Given the description of an element on the screen output the (x, y) to click on. 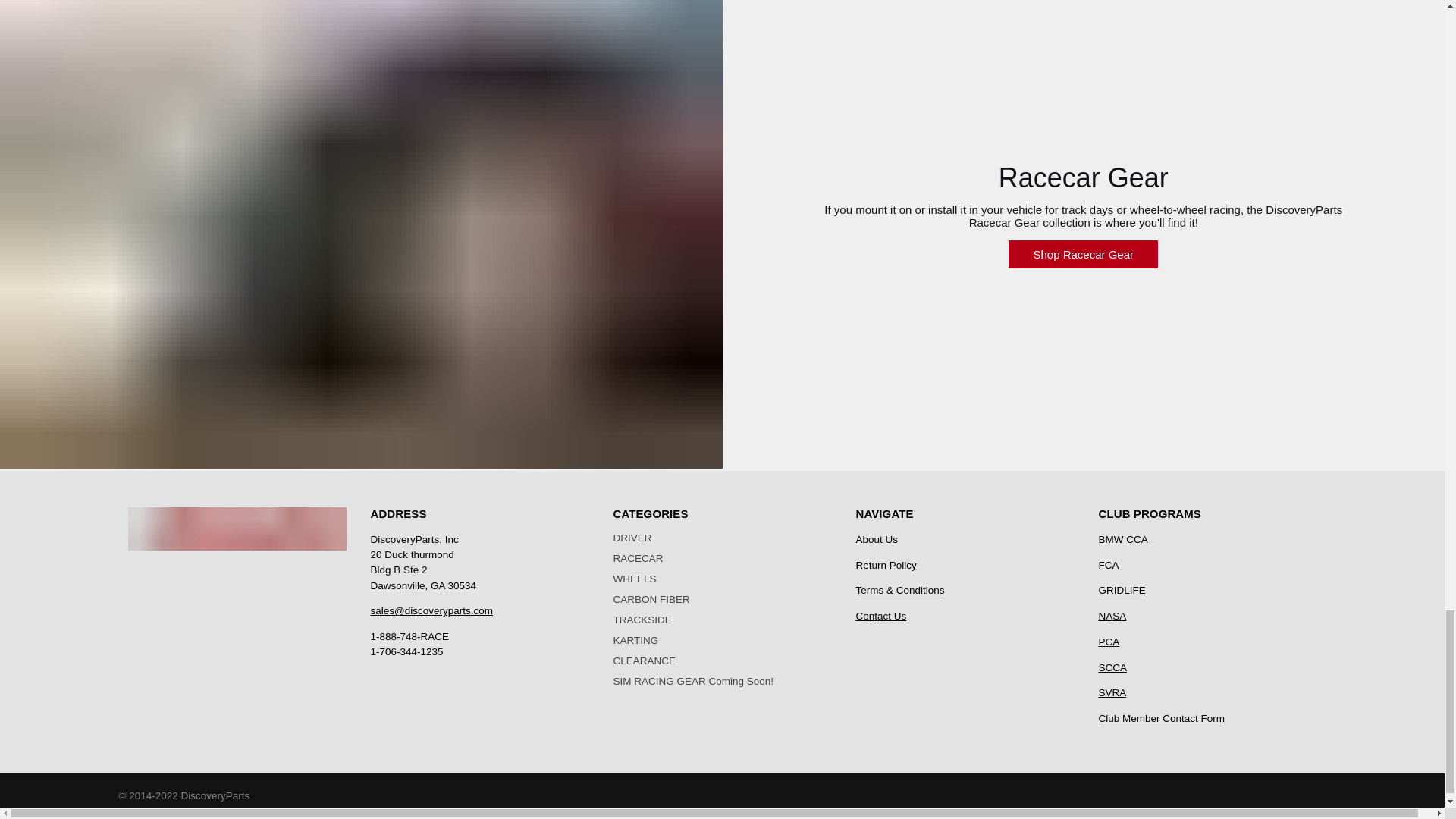
Terms and Conditions (899, 590)
Contact (880, 615)
About Us (877, 539)
Return Policy (885, 564)
